Given the description of an element on the screen output the (x, y) to click on. 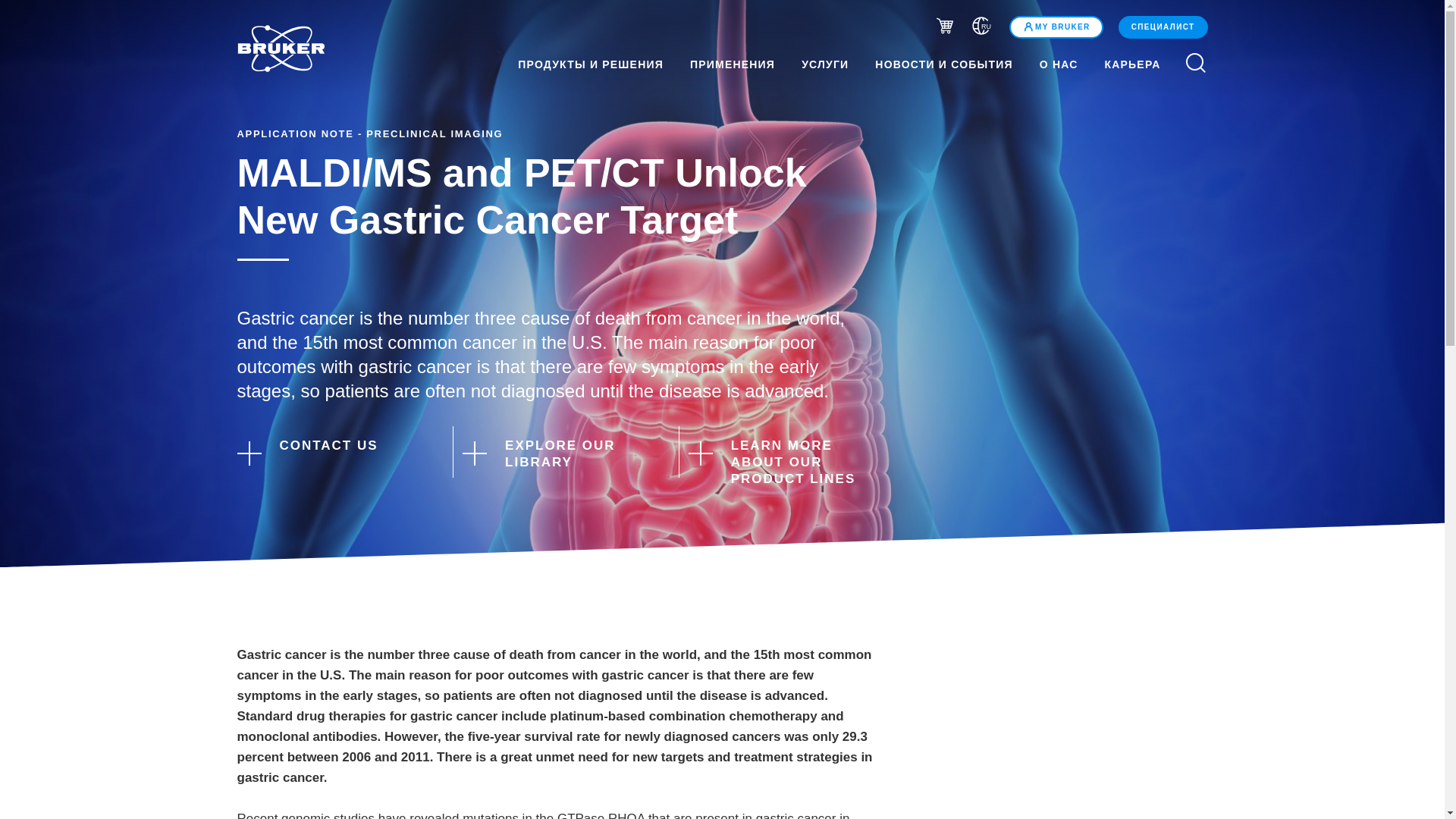
LEARN MORE ABOUT OUR PRODUCT LINES (782, 462)
MY BRUKER (1056, 26)
EXPLORE OUR LIBRARY (557, 453)
CONTACT US (330, 451)
